Given the description of an element on the screen output the (x, y) to click on. 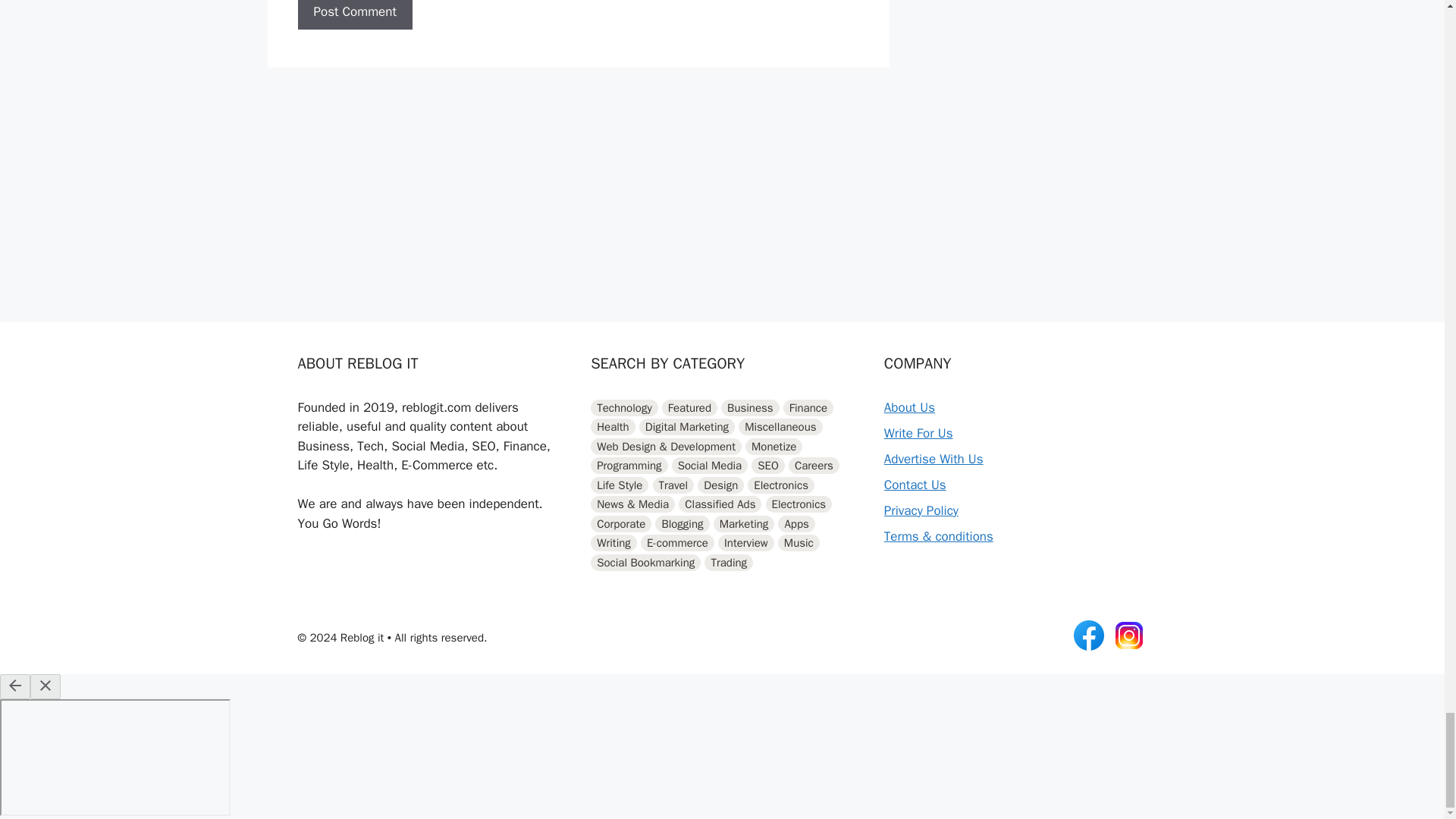
Technology (624, 407)
Post Comment (354, 15)
Post Comment (354, 15)
Featured (689, 407)
